Given the description of an element on the screen output the (x, y) to click on. 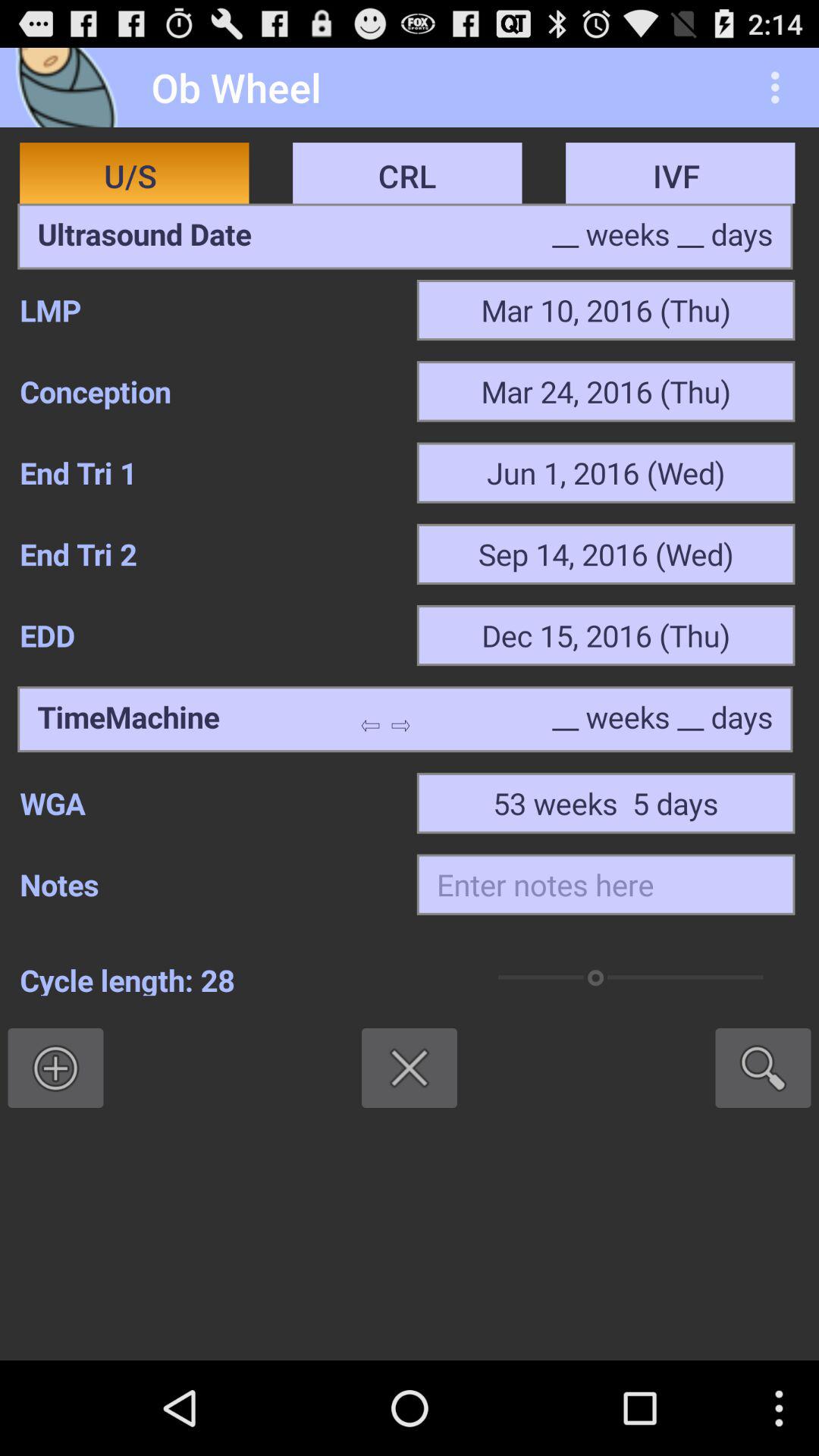
press icon to the left of the ob wheel app (71, 87)
